Given the description of an element on the screen output the (x, y) to click on. 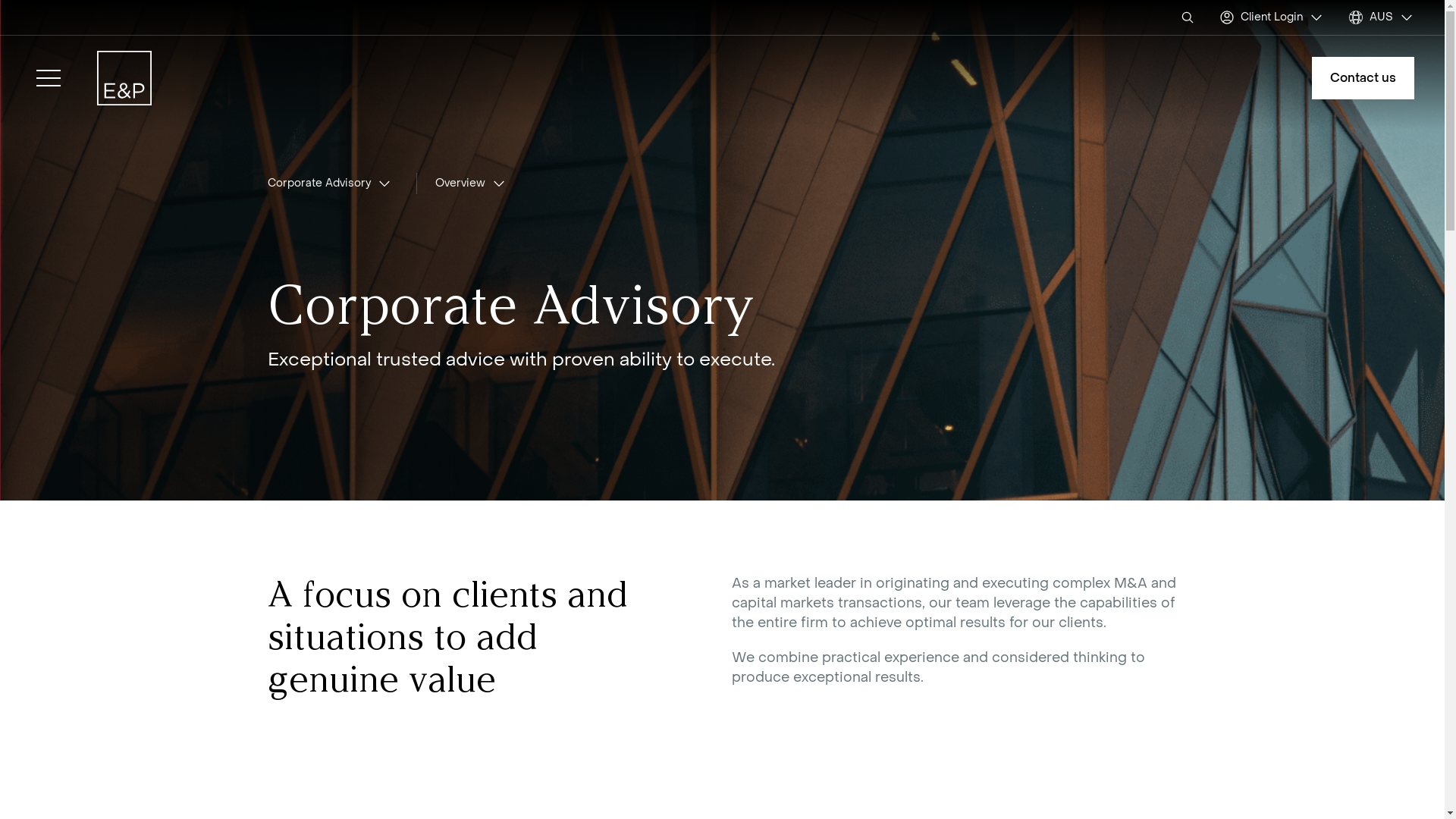
Overview Element type: text (470, 183)
E&P Element type: hover (124, 77)
Corporate Advisory Element type: text (328, 183)
Client Login Element type: text (1271, 17)
AUS Element type: text (1381, 17)
Contact us Element type: text (1362, 77)
